Given the description of an element on the screen output the (x, y) to click on. 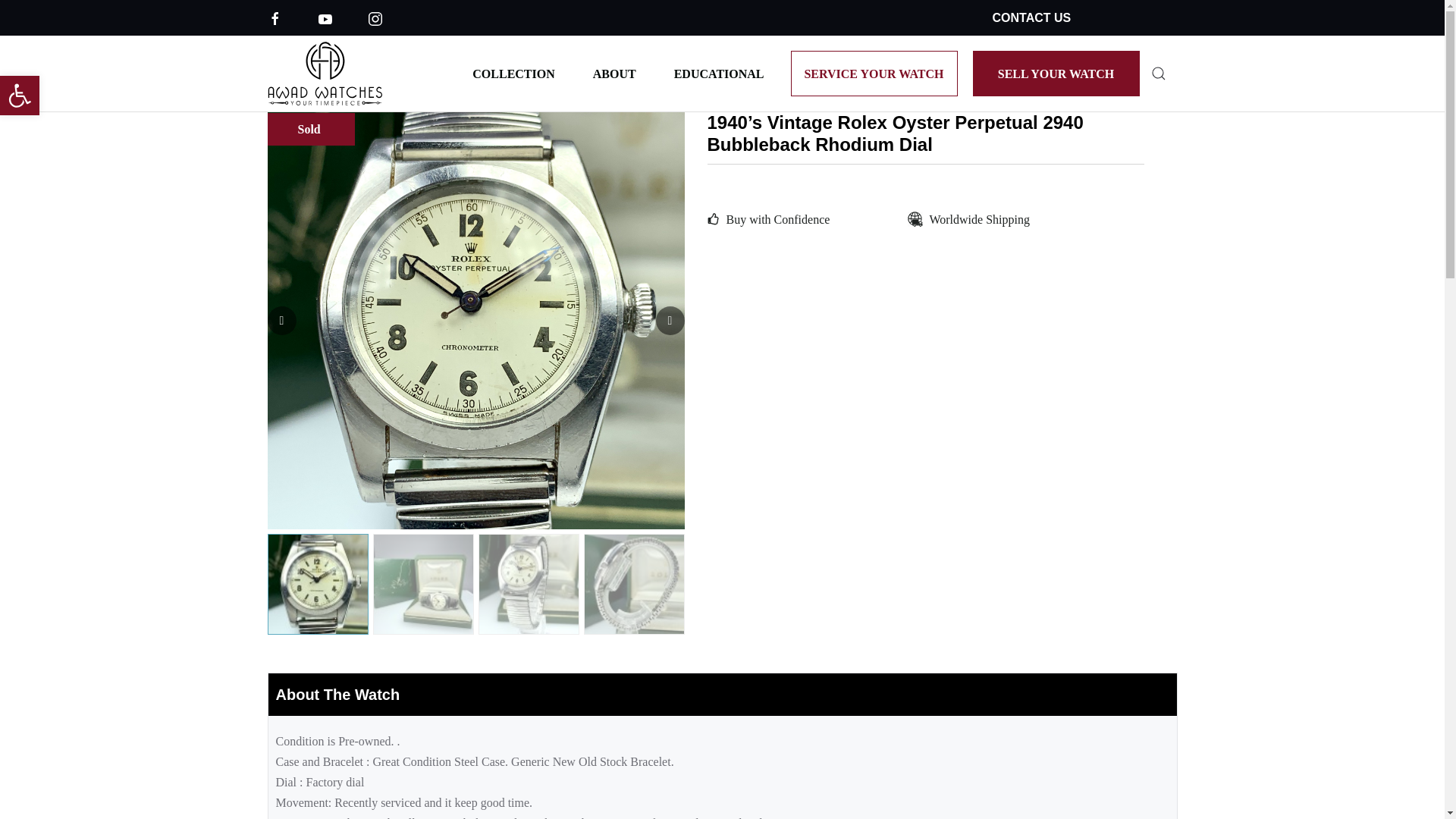
CONTACT US (1030, 17)
ABOUT (613, 73)
EDUCATIONAL (719, 73)
SERVICE YOUR WATCH (873, 73)
Open toolbar (19, 95)
Accessibility Tools (19, 95)
COLLECTION (513, 73)
SELL YOUR WATCH (1055, 73)
